Given the description of an element on the screen output the (x, y) to click on. 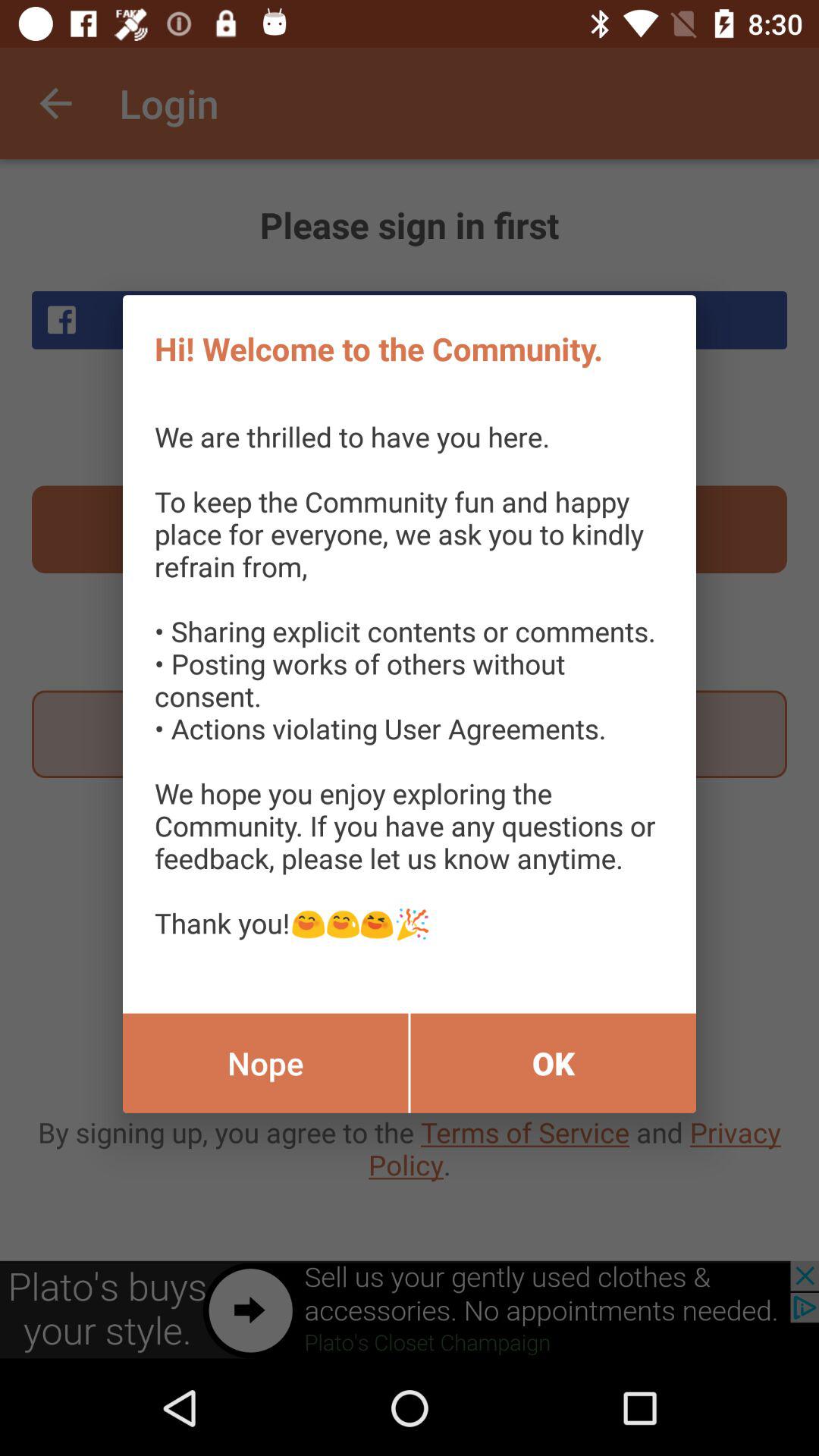
swipe until the ok item (553, 1063)
